Given the description of an element on the screen output the (x, y) to click on. 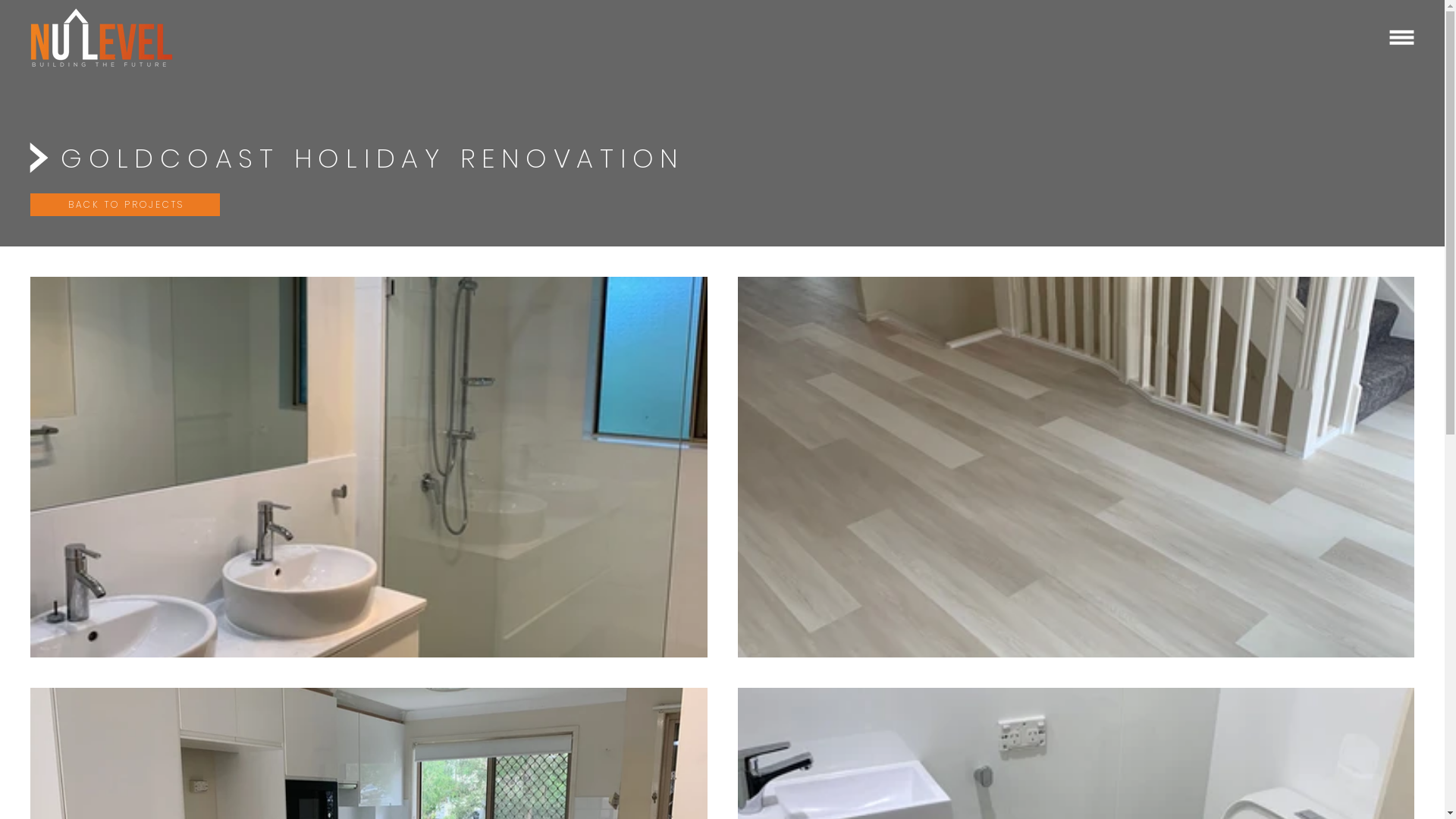
B A C K   T O   P R O J E C T S Element type: text (124, 204)
